Given the description of an element on the screen output the (x, y) to click on. 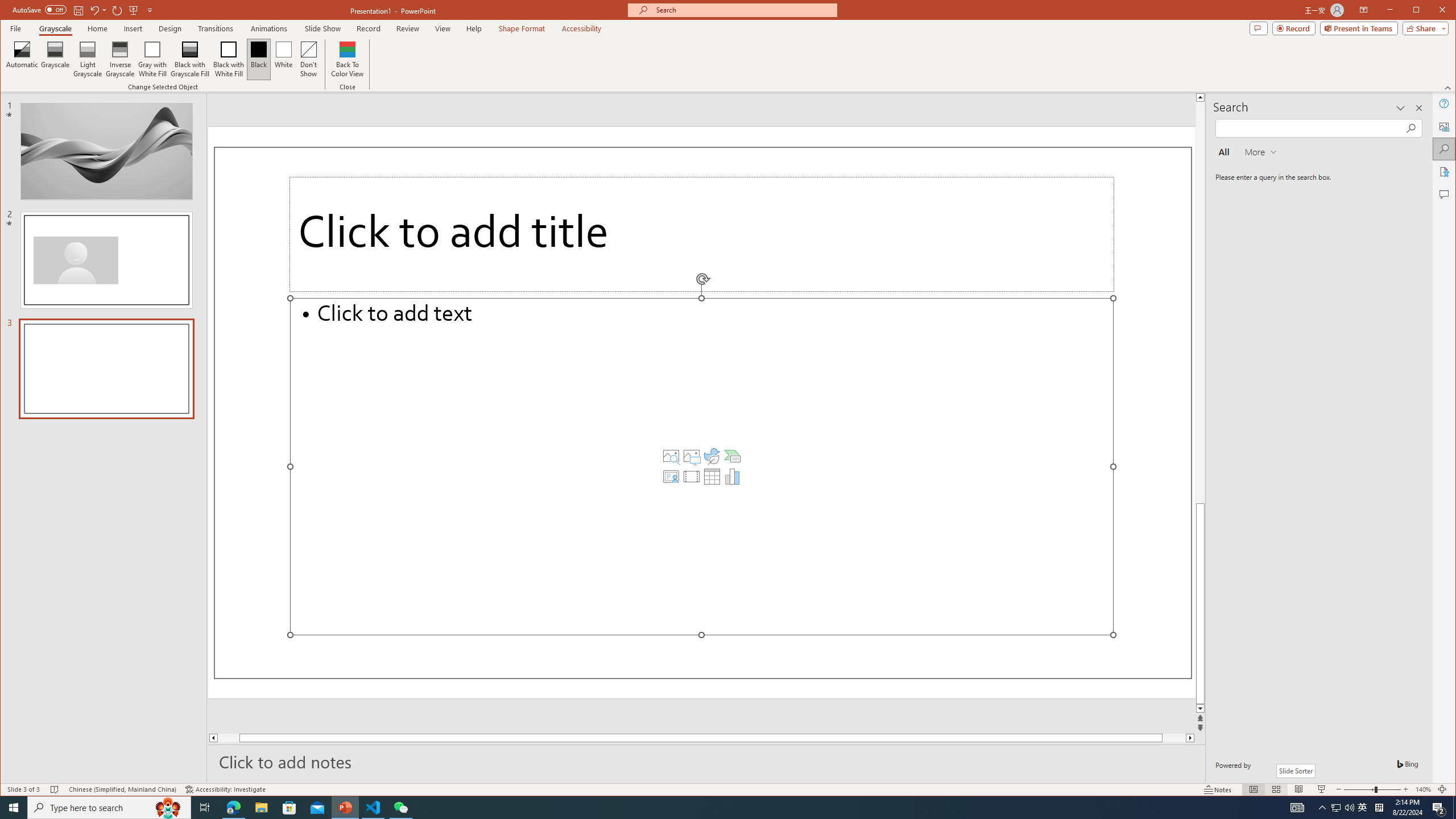
White (283, 59)
Automatic (22, 59)
Gray with White Fill (152, 59)
Don't Show (308, 59)
